Given the description of an element on the screen output the (x, y) to click on. 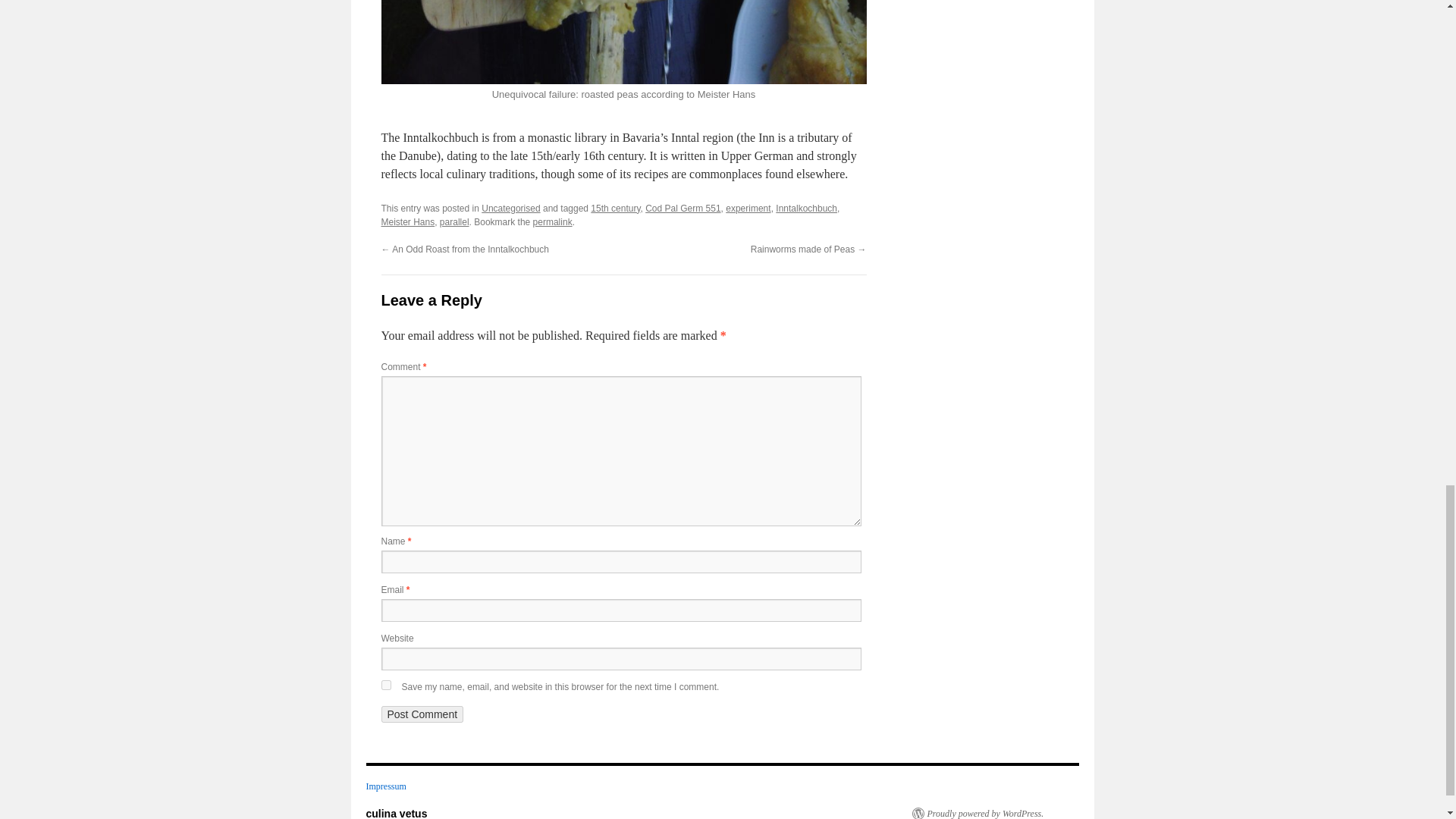
Meister Hans (406, 222)
Cod Pal Germ 551 (682, 208)
Permalink to Roast Pease Pudding from the Inntalkochbuch (552, 222)
Inntalkochbuch (806, 208)
Post Comment (421, 713)
Uncategorised (510, 208)
parallel (453, 222)
15th century (615, 208)
yes (385, 685)
Post Comment (421, 713)
